Given the description of an element on the screen output the (x, y) to click on. 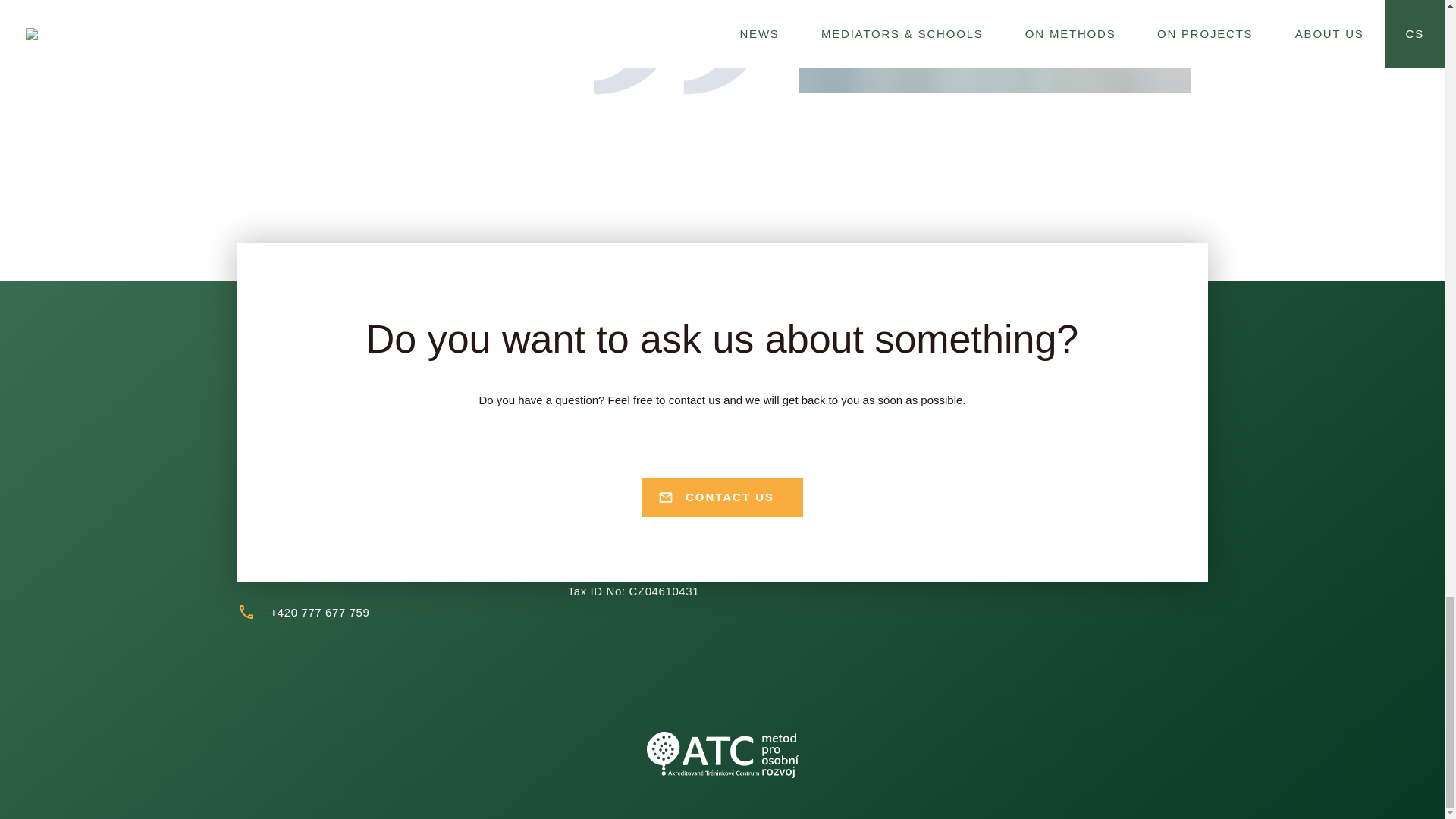
www.charliekarlin.cz (1030, 456)
CONTACT US (722, 492)
www.ucime-se-ucit.cz (1033, 481)
www.centrumrozum.cz (1035, 431)
www.dyscentrum.org (1030, 406)
